Given the description of an element on the screen output the (x, y) to click on. 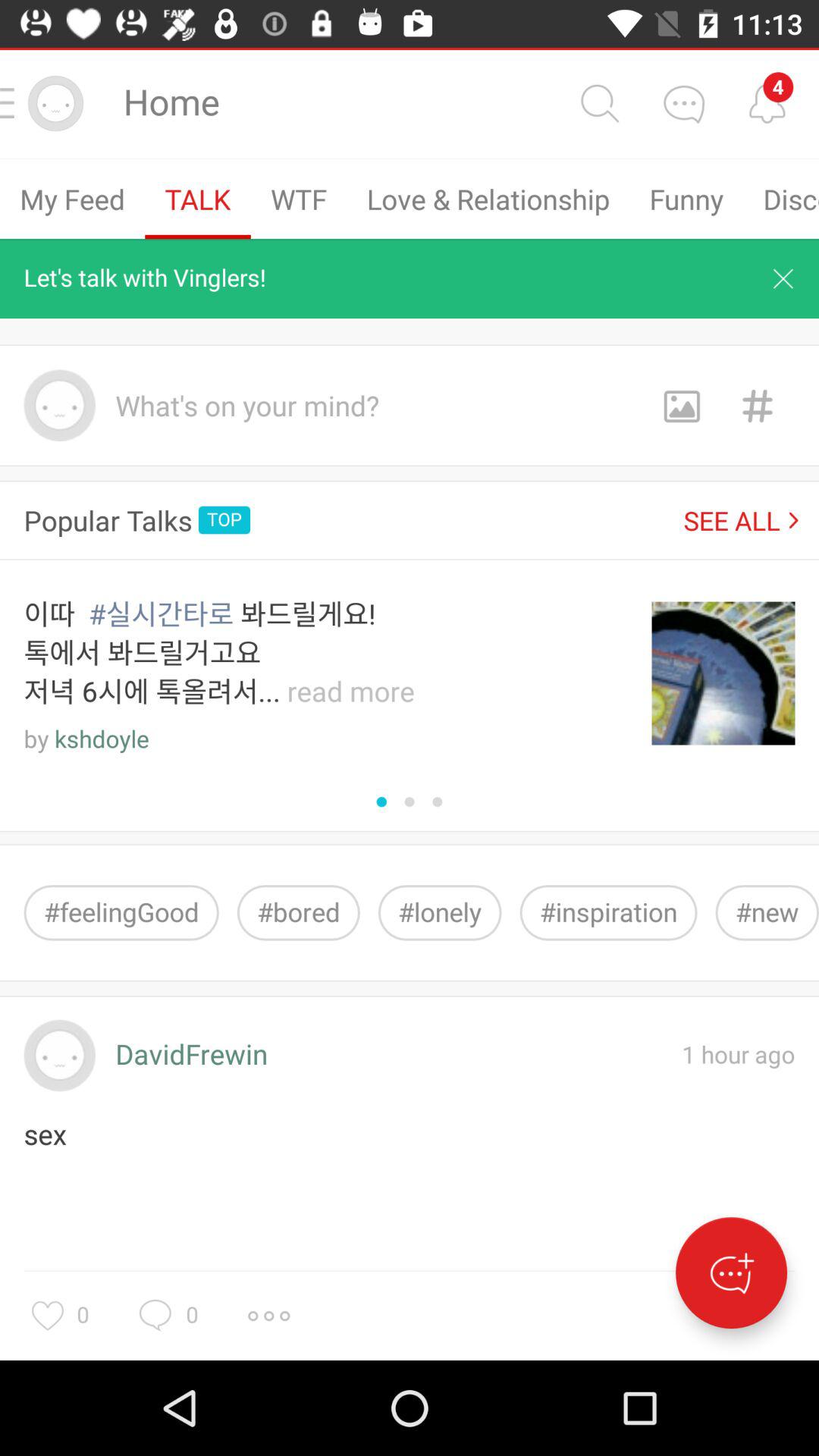
select #feelinggood (120, 912)
